Given the description of an element on the screen output the (x, y) to click on. 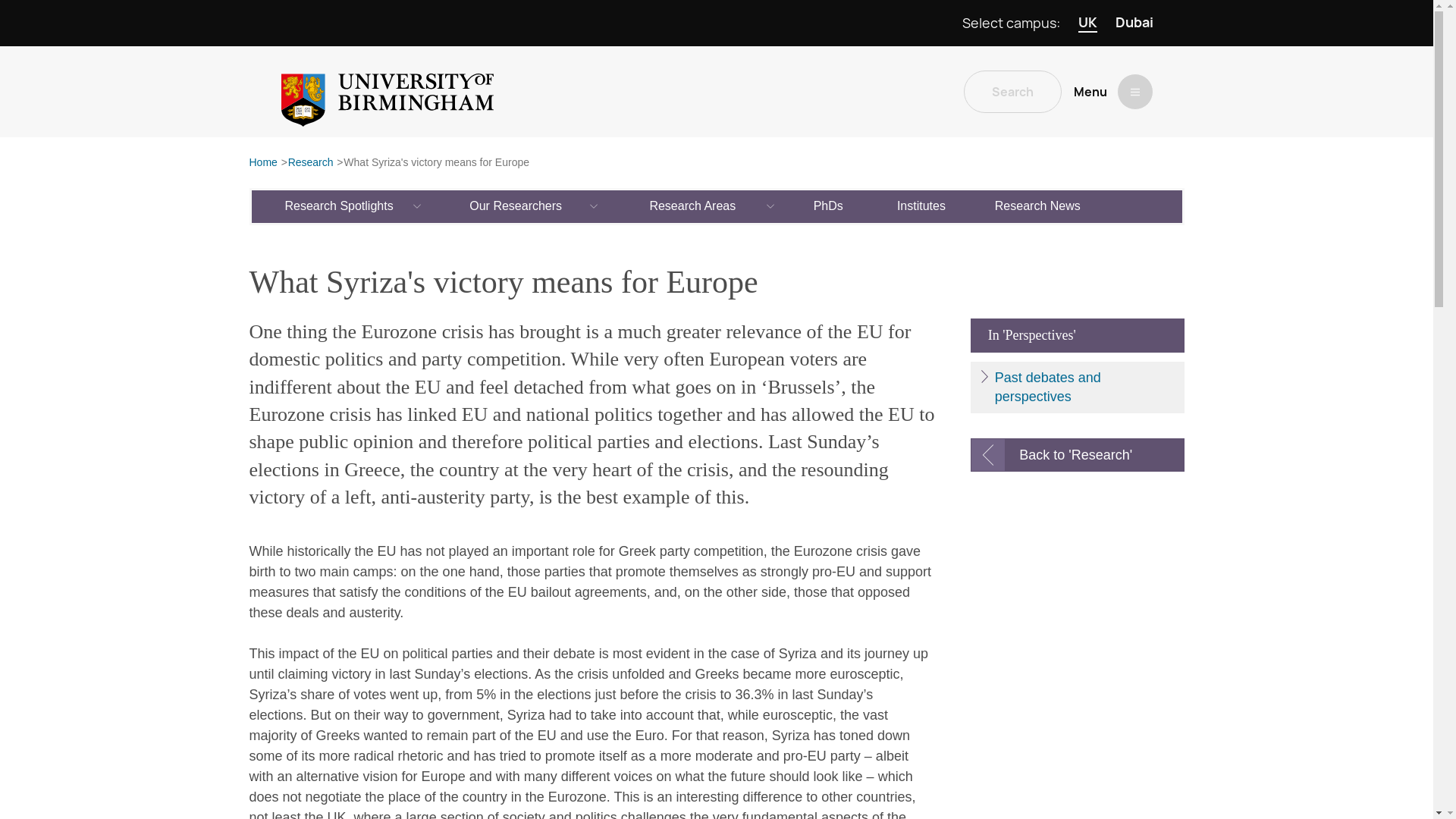
Research (310, 163)
Search (1012, 91)
Our Researchers (516, 205)
UK (1087, 23)
Research Areas (693, 205)
What Syriza's victory means for Europe (436, 163)
Research Spotlights (339, 205)
Home (262, 163)
Dubai (1134, 23)
